Given the description of an element on the screen output the (x, y) to click on. 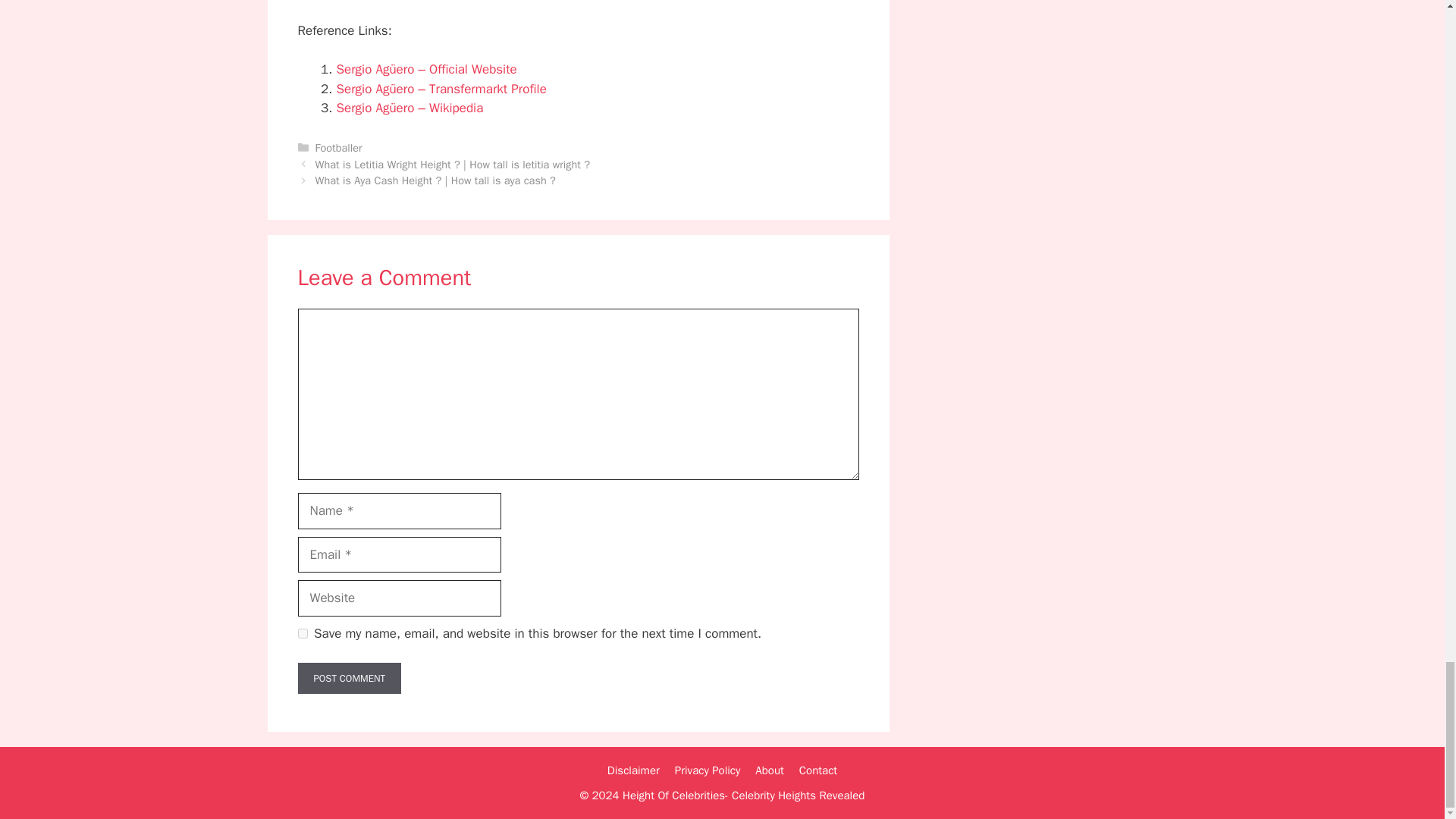
yes (302, 633)
Post Comment (349, 678)
